Given the description of an element on the screen output the (x, y) to click on. 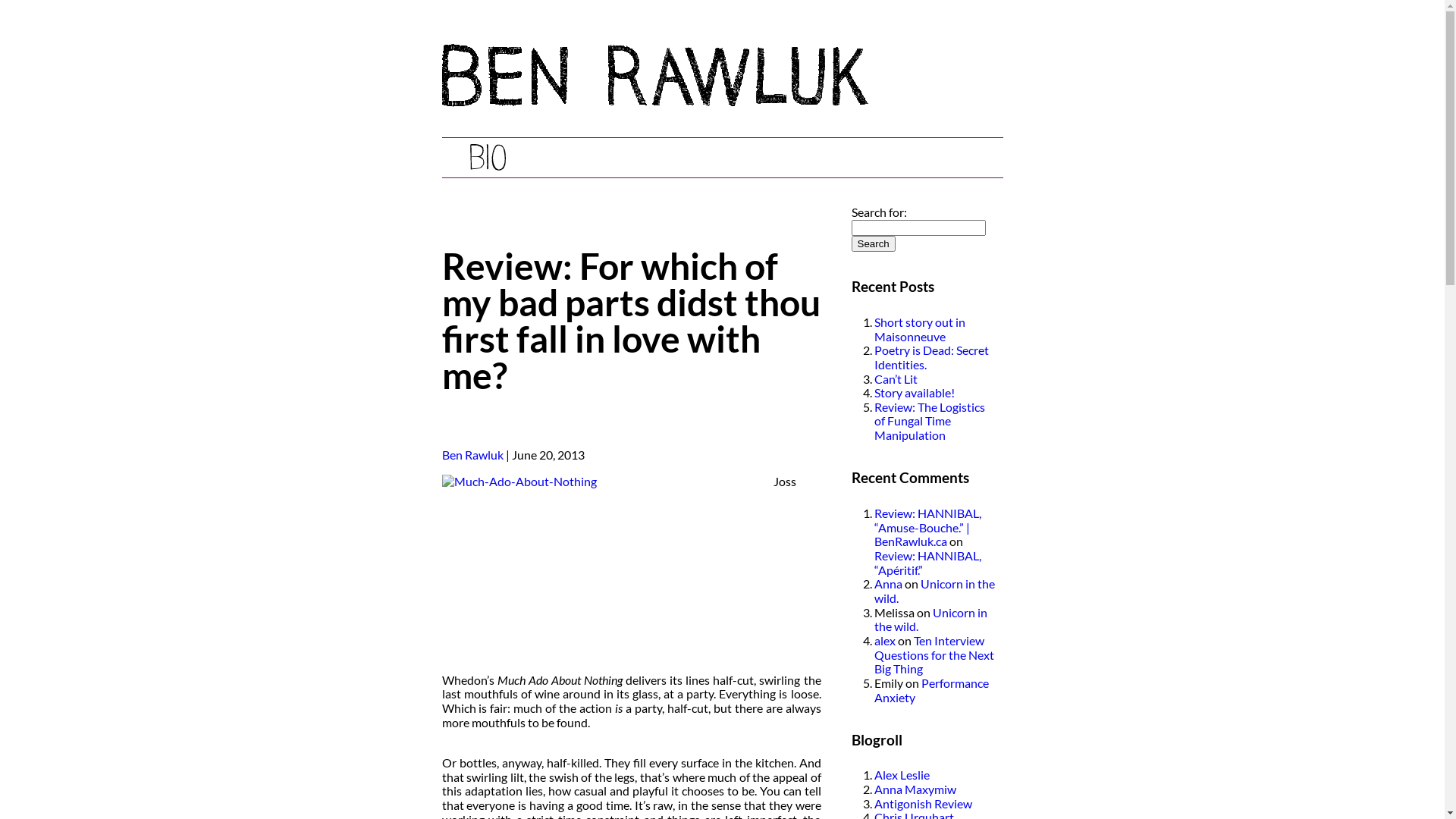
Contact Element type: text (868, 157)
CV Element type: text (581, 157)
Short story out in Maisonneuve Element type: text (918, 328)
Bio Element type: text (487, 157)
Ten Interview Questions for the Next Big Thing Element type: text (933, 654)
Unicorn in the wild. Element type: text (933, 590)
Anna Maxymiw Element type: text (914, 788)
Search Element type: text (872, 243)
Performance Anxiety Element type: text (930, 689)
BenRawluk.ca Element type: hover (654, 101)
Story available! Element type: text (913, 392)
Anna Element type: text (887, 583)
Unicorn in the wild. Element type: text (929, 619)
Alex Leslie Element type: text (900, 774)
Poetry is Dead: Secret Identities. Element type: text (930, 356)
Reviews Element type: text (714, 157)
alex Element type: text (883, 640)
Ben Rawluk Element type: text (471, 454)
Antigonish Review Element type: text (922, 803)
Review: The Logistics of Fungal Time Manipulation Element type: text (928, 420)
